Given the description of an element on the screen output the (x, y) to click on. 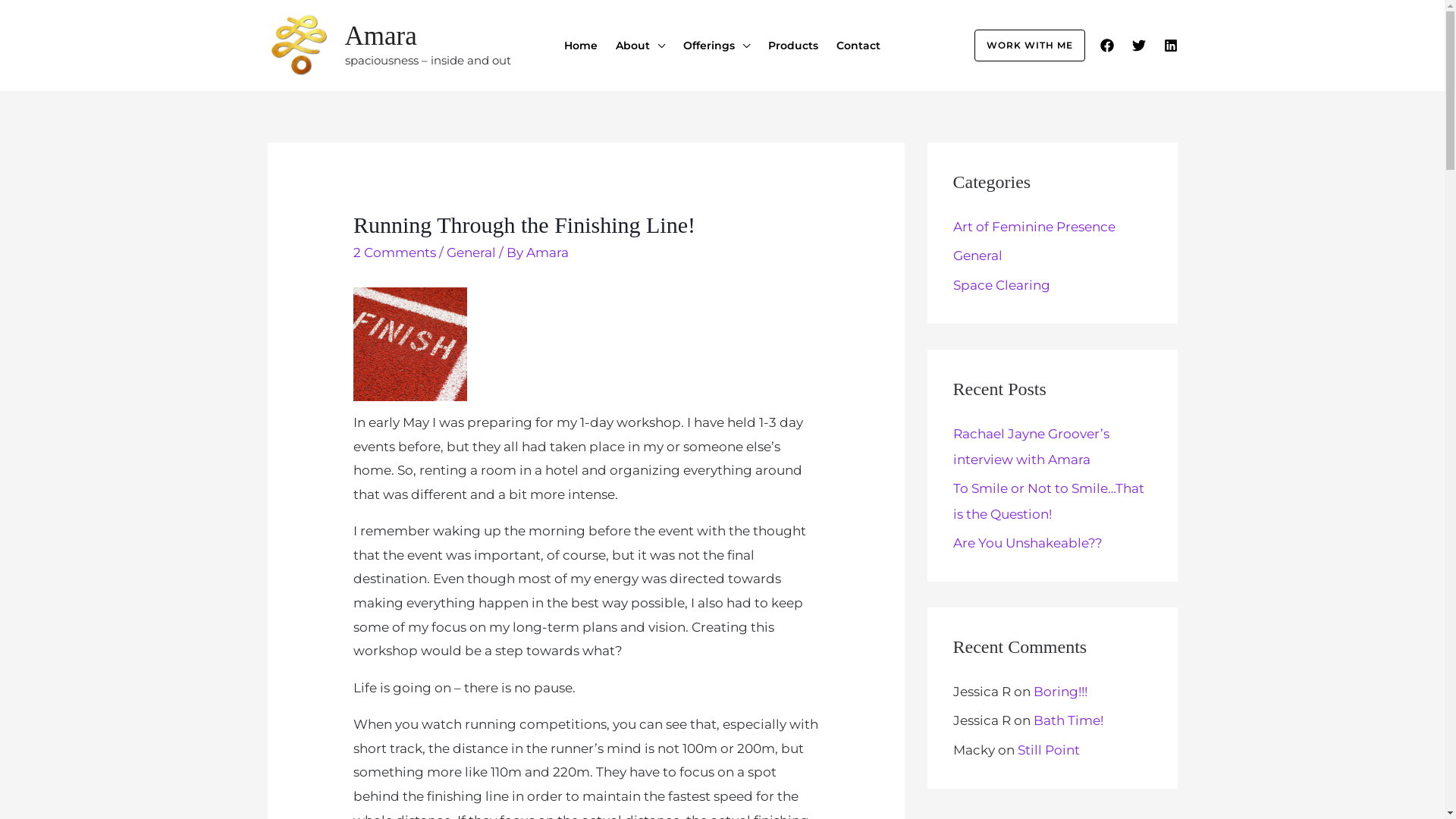
2 Comments Element type: text (394, 252)
Amara Element type: text (547, 252)
About Element type: text (640, 44)
General Element type: text (470, 252)
WORK WITH ME Element type: text (1024, 44)
Bath Time! Element type: text (1067, 720)
Home Element type: text (580, 44)
Products Element type: text (793, 44)
Offerings Element type: text (716, 44)
Still Point Element type: text (1048, 748)
Art of Feminine Presence Element type: text (1033, 226)
Are You Unshakeable?? Element type: text (1026, 542)
Amara Element type: text (380, 35)
General Element type: text (976, 255)
Boring!!! Element type: text (1059, 691)
Space Clearing Element type: text (1000, 284)
Contact Element type: text (858, 44)
